Given the description of an element on the screen output the (x, y) to click on. 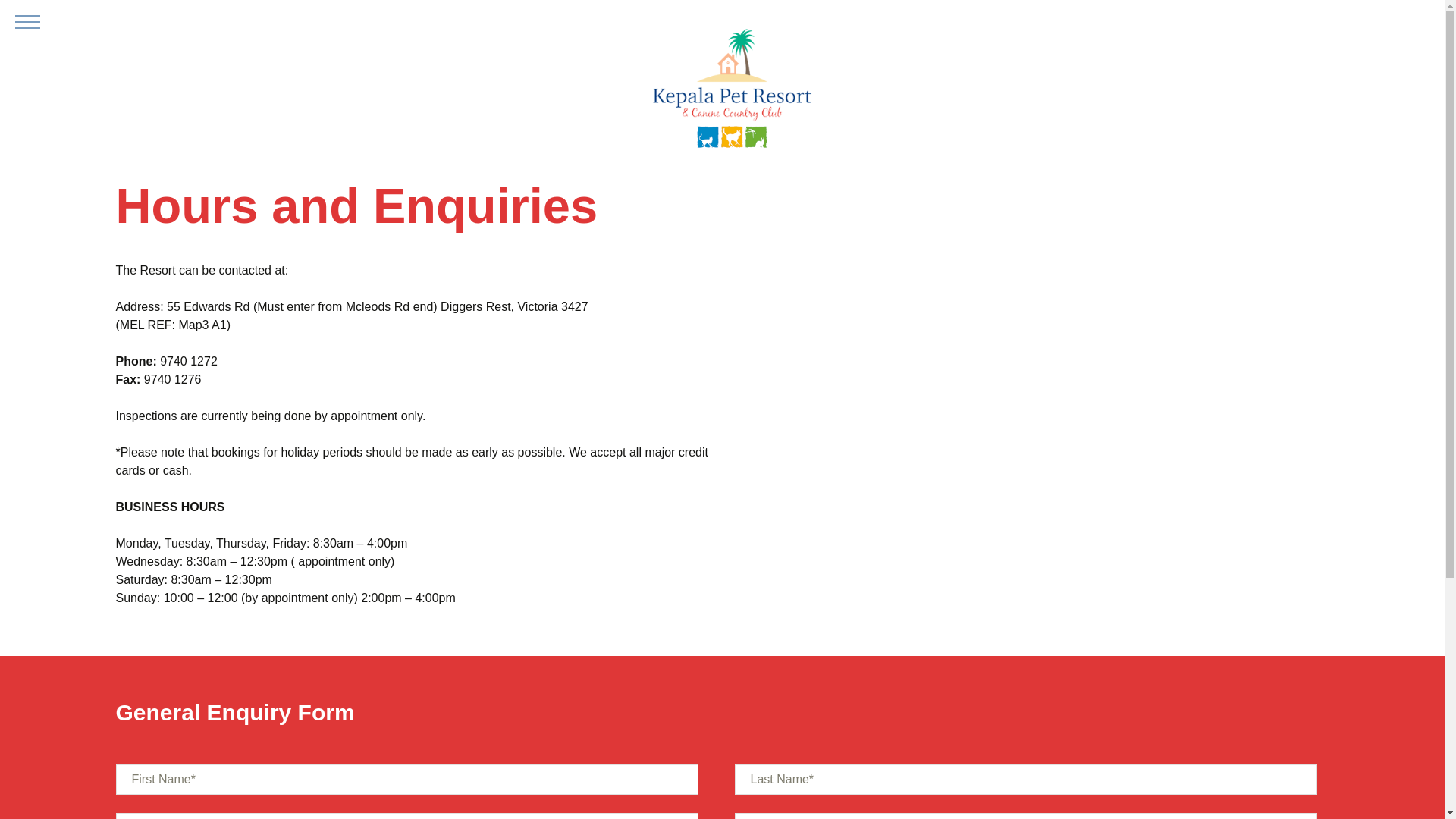
Kepala Pet Resort & Canine Country Club Element type: hover (731, 90)
